Given the description of an element on the screen output the (x, y) to click on. 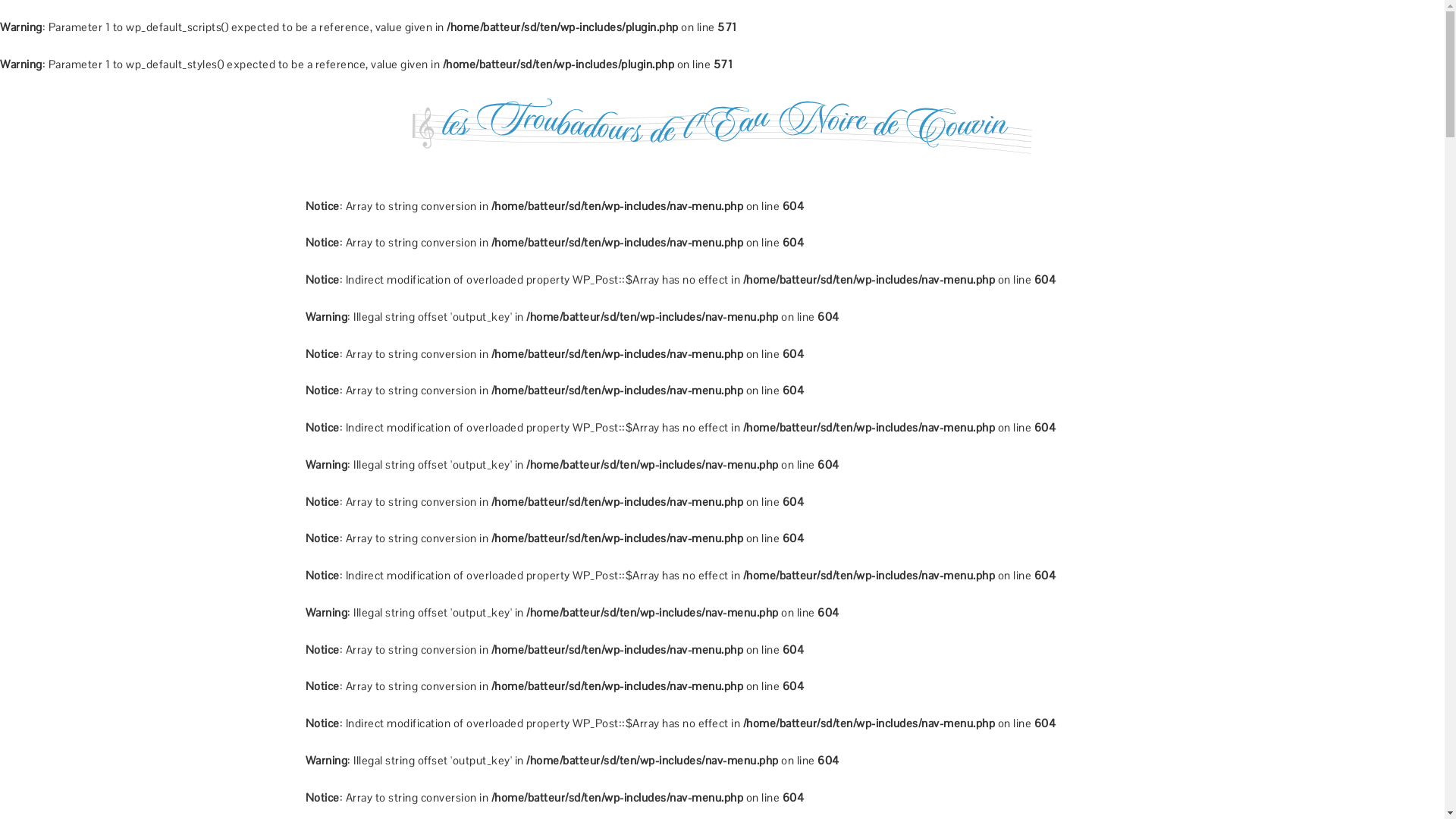
les troubadours de l'eau noire de couvin Element type: text (721, 117)
